Given the description of an element on the screen output the (x, y) to click on. 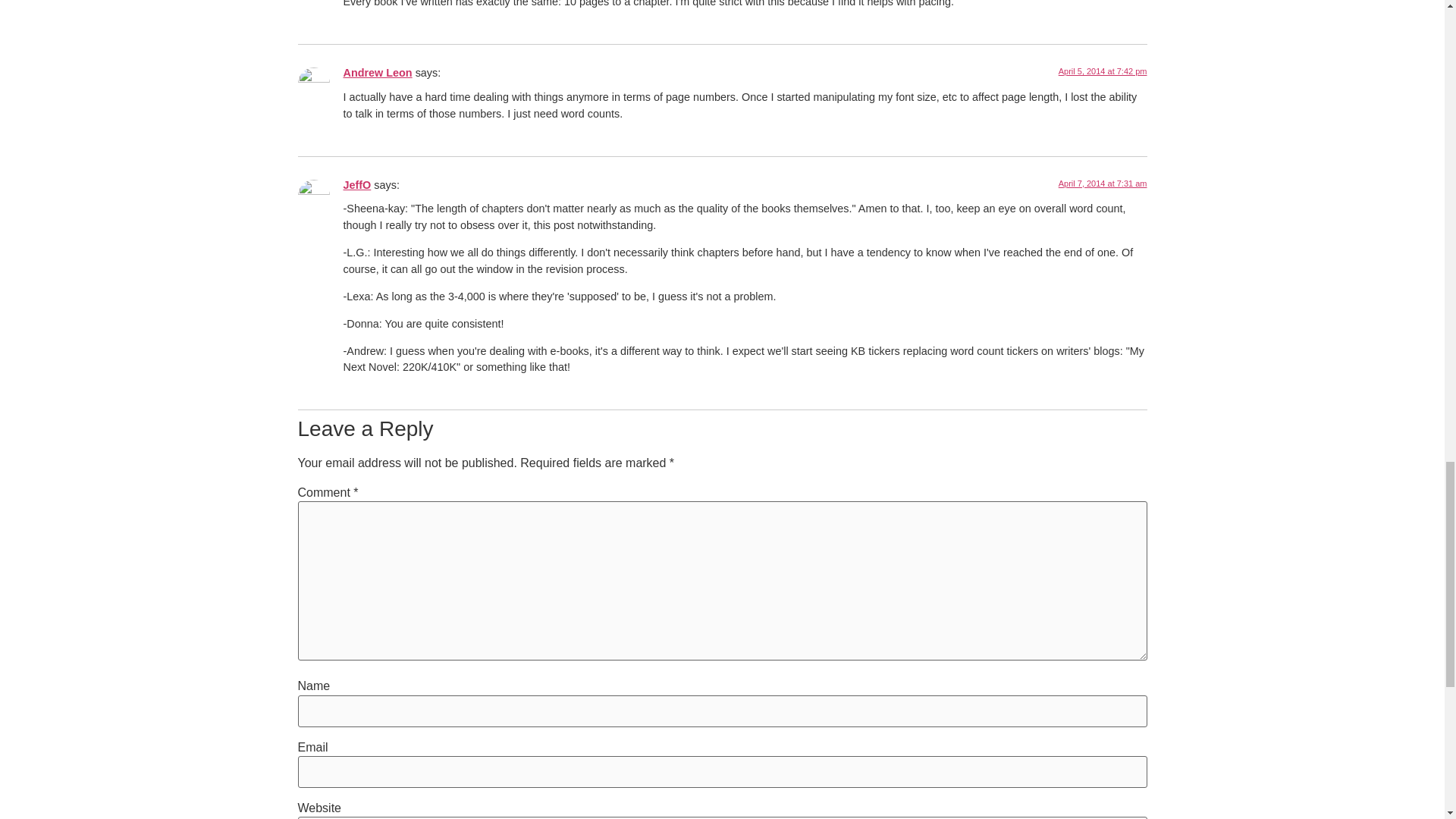
Andrew Leon (377, 72)
April 7, 2014 at 7:31 am (1102, 183)
April 5, 2014 at 7:42 pm (1102, 71)
JeffO (356, 184)
